Given the description of an element on the screen output the (x, y) to click on. 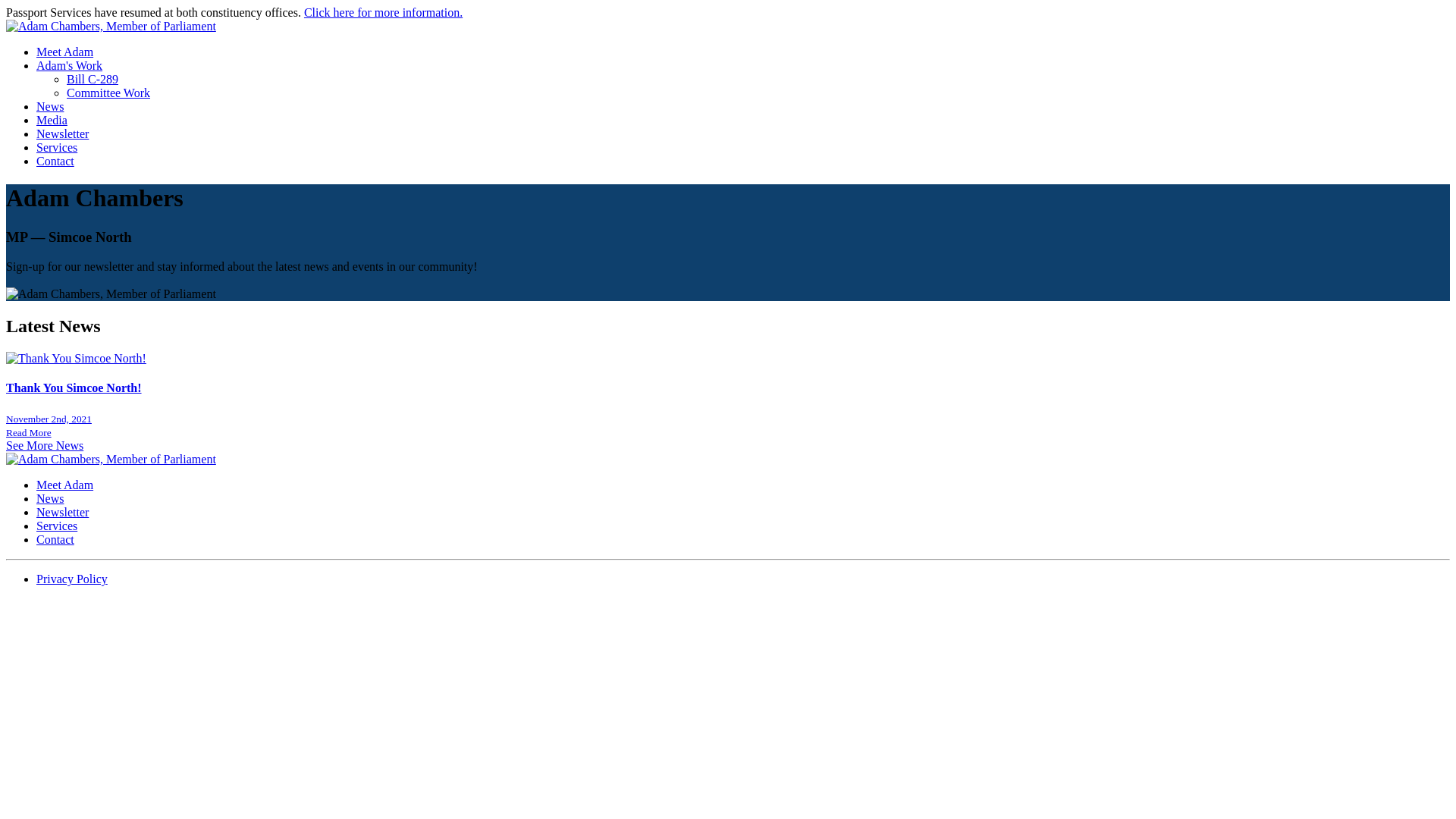
Media Element type: text (51, 119)
Committee Work Element type: text (108, 92)
News Element type: text (49, 106)
Thank You Simcoe North! Element type: text (727, 388)
Meet Adam Element type: text (64, 51)
Adam Chambers, Member of Parliament Element type: hover (111, 459)
Services Element type: text (56, 525)
Services Element type: text (56, 147)
Read More Element type: text (28, 431)
November 2nd, 2021 Element type: text (48, 417)
News Element type: text (49, 498)
Newsletter Element type: text (62, 133)
Contact Element type: text (55, 539)
Adam Chambers, Member of Parliament Element type: hover (111, 26)
Click here for more information. Element type: text (383, 12)
Newsletter Element type: text (62, 511)
Adam's Work Element type: text (69, 65)
See More News Element type: text (44, 445)
Contact Element type: text (55, 160)
Bill C-289 Element type: text (92, 78)
Meet Adam Element type: text (64, 484)
Privacy Policy Element type: text (71, 578)
